Given the description of an element on the screen output the (x, y) to click on. 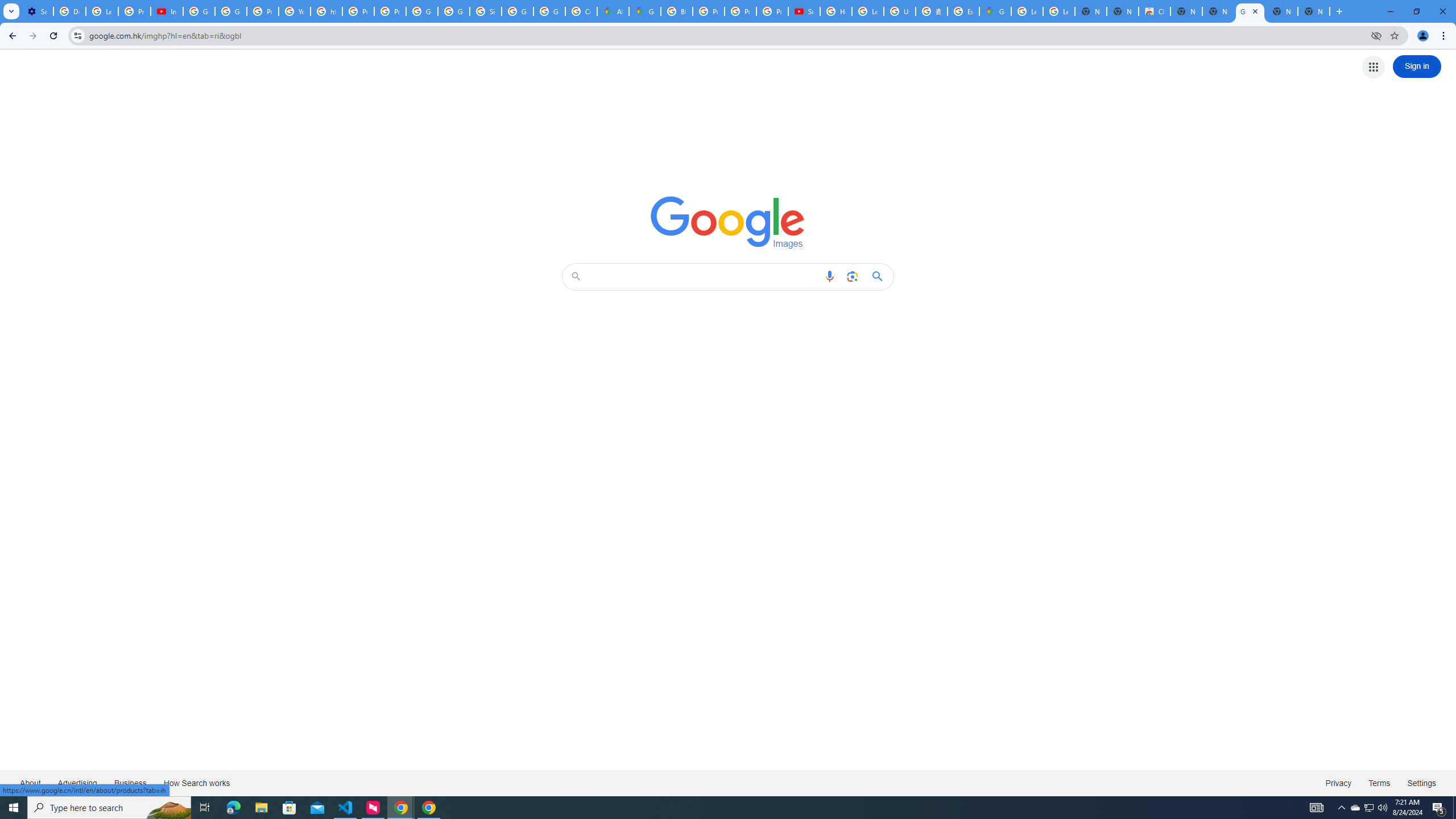
About (30, 782)
Delete photos & videos - Computer - Google Photos Help (69, 11)
Learn how to find your photos - Google Photos Help (101, 11)
Google Maps (995, 11)
